Given the description of an element on the screen output the (x, y) to click on. 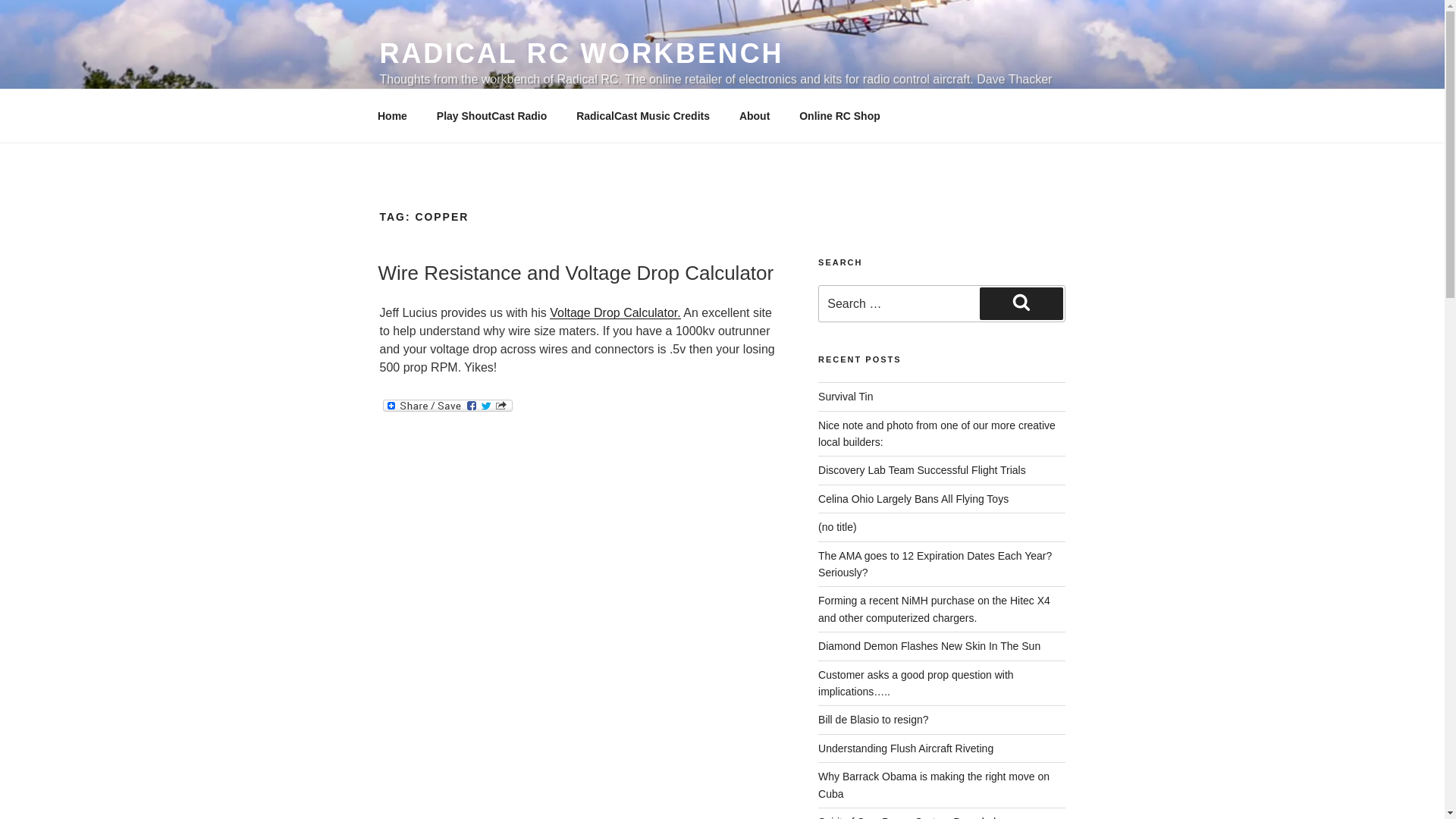
Search (1020, 303)
Why Barrack Obama is making the right move on Cuba (933, 784)
Discovery Lab Team Successful Flight Trials (922, 469)
Celina Ohio Largely Bans All Flying Toys (913, 499)
Home (392, 115)
Spirit of Sam Power System Decoded (906, 817)
The AMA goes to 12 Expiration Dates Each Year? Seriously? (934, 563)
RADICAL RC WORKBENCH (580, 52)
Play ShoutCast Radio (491, 115)
Understanding Flush Aircraft Riveting (905, 748)
Survival Tin (845, 396)
Wire Resistance and Voltage Drop Calculator (575, 272)
Diamond Demon Flashes New Skin In The Sun (929, 645)
Voltage Drop Calculator. (615, 312)
